Given the description of an element on the screen output the (x, y) to click on. 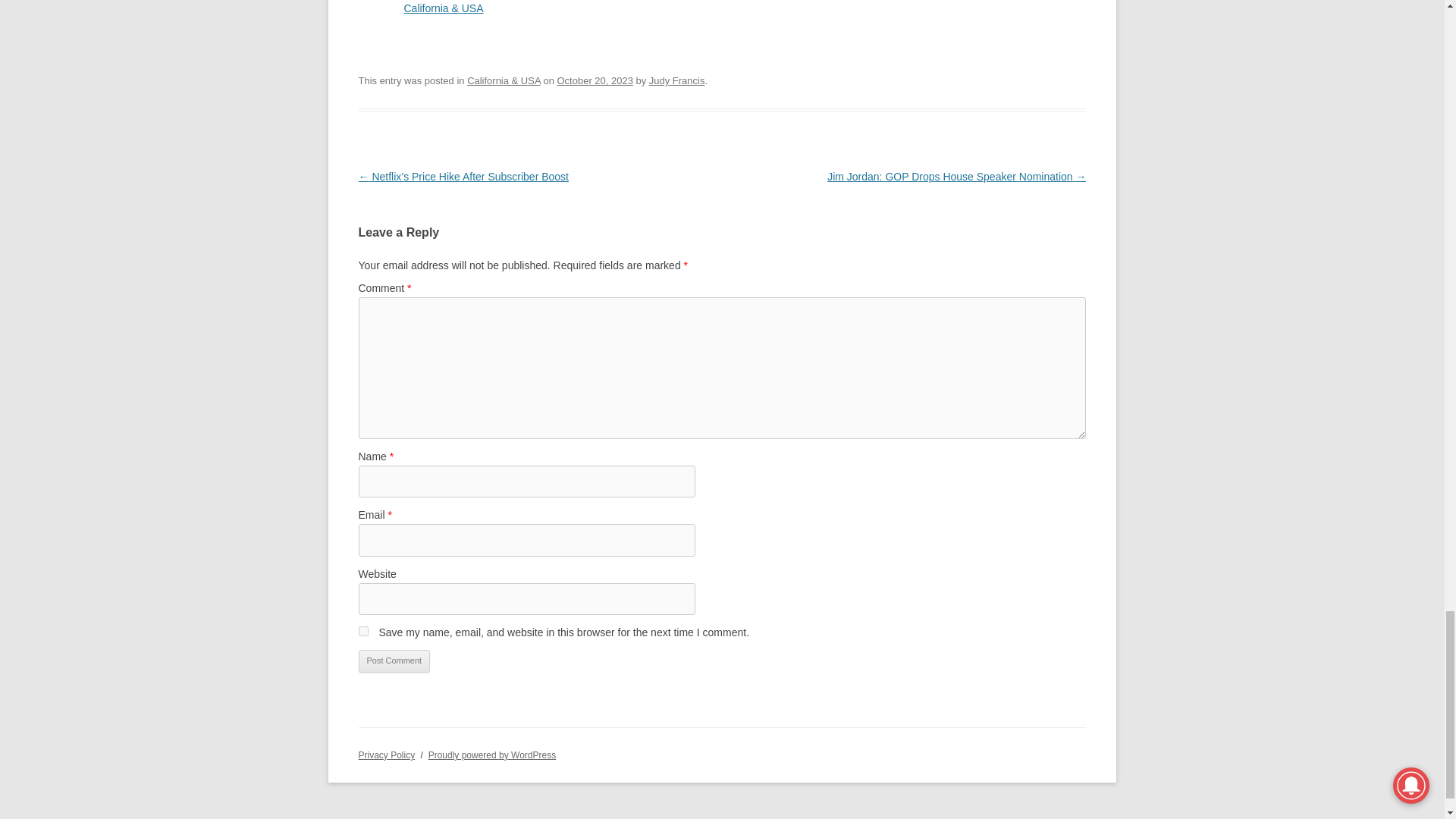
Proudly powered by WordPress (492, 755)
Judy Francis (676, 80)
Semantic Personal Publishing Platform (492, 755)
Post Comment (393, 661)
View all posts by Judy Francis (676, 80)
October 20, 2023 (595, 80)
Privacy Policy (386, 755)
yes (363, 631)
Post Comment (393, 661)
3:37 am (595, 80)
